Given the description of an element on the screen output the (x, y) to click on. 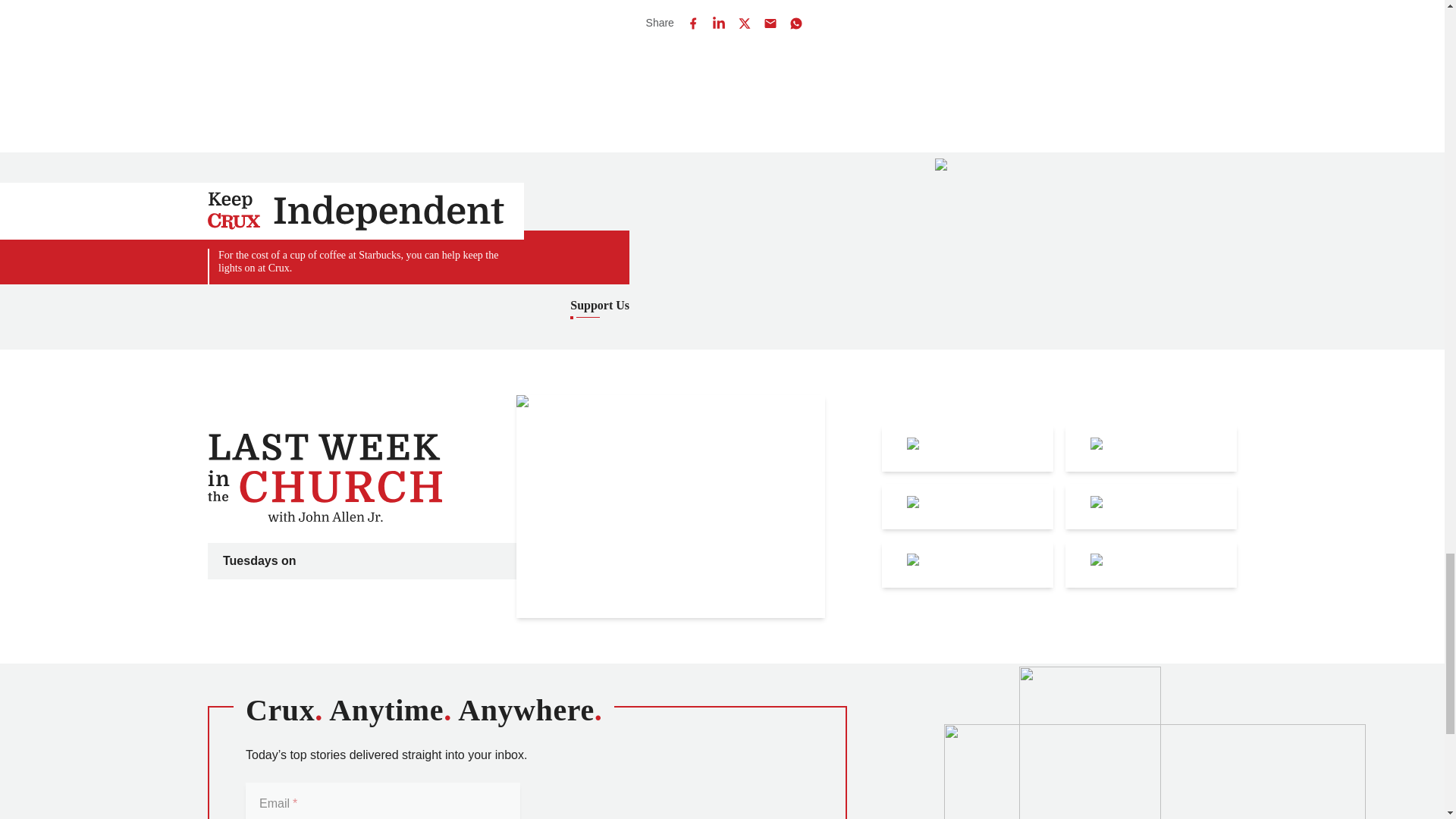
required (293, 802)
